Given the description of an element on the screen output the (x, y) to click on. 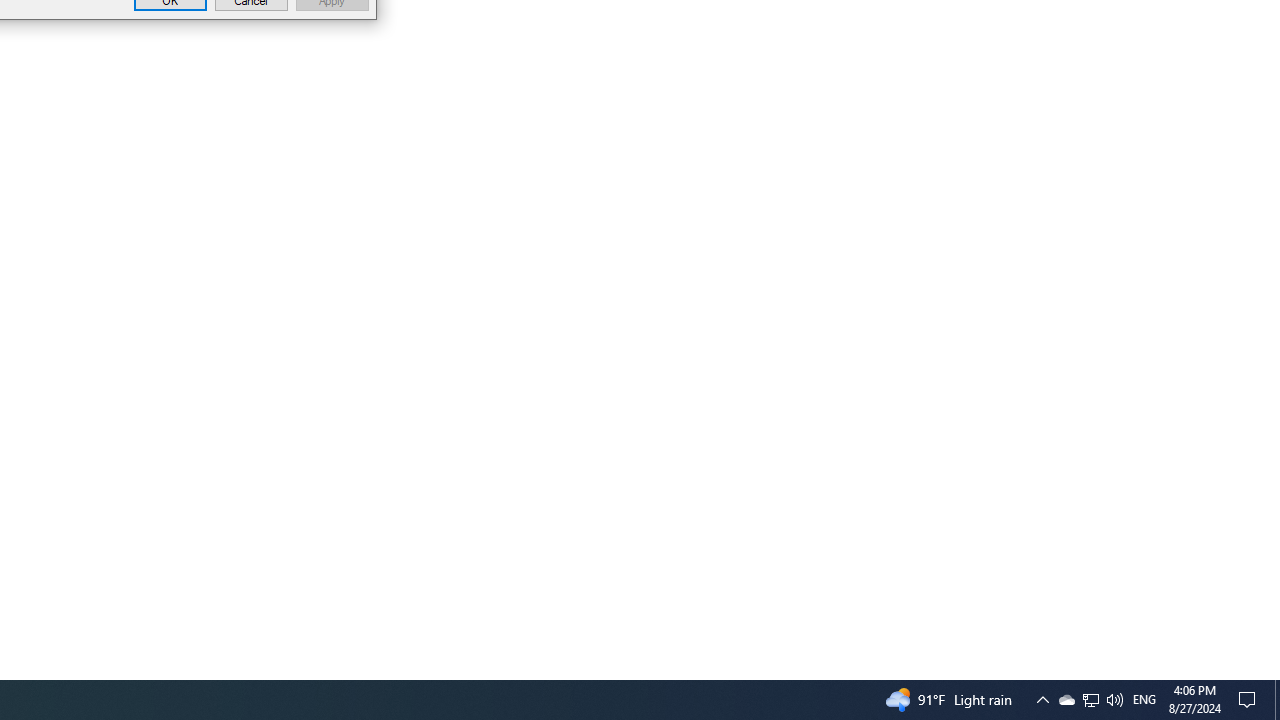
Show desktop (1091, 699)
Action Center, No new notifications (1066, 699)
Notification Chevron (1277, 699)
Q2790: 100% (1250, 699)
Tray Input Indicator - English (United States) (1042, 699)
User Promoted Notification Area (1114, 699)
